Given the description of an element on the screen output the (x, y) to click on. 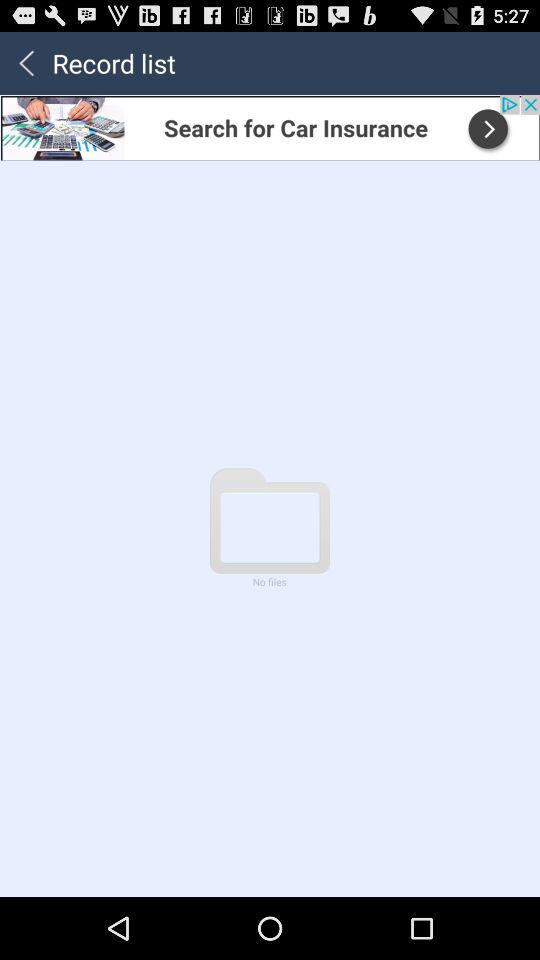
go back (26, 62)
